Given the description of an element on the screen output the (x, y) to click on. 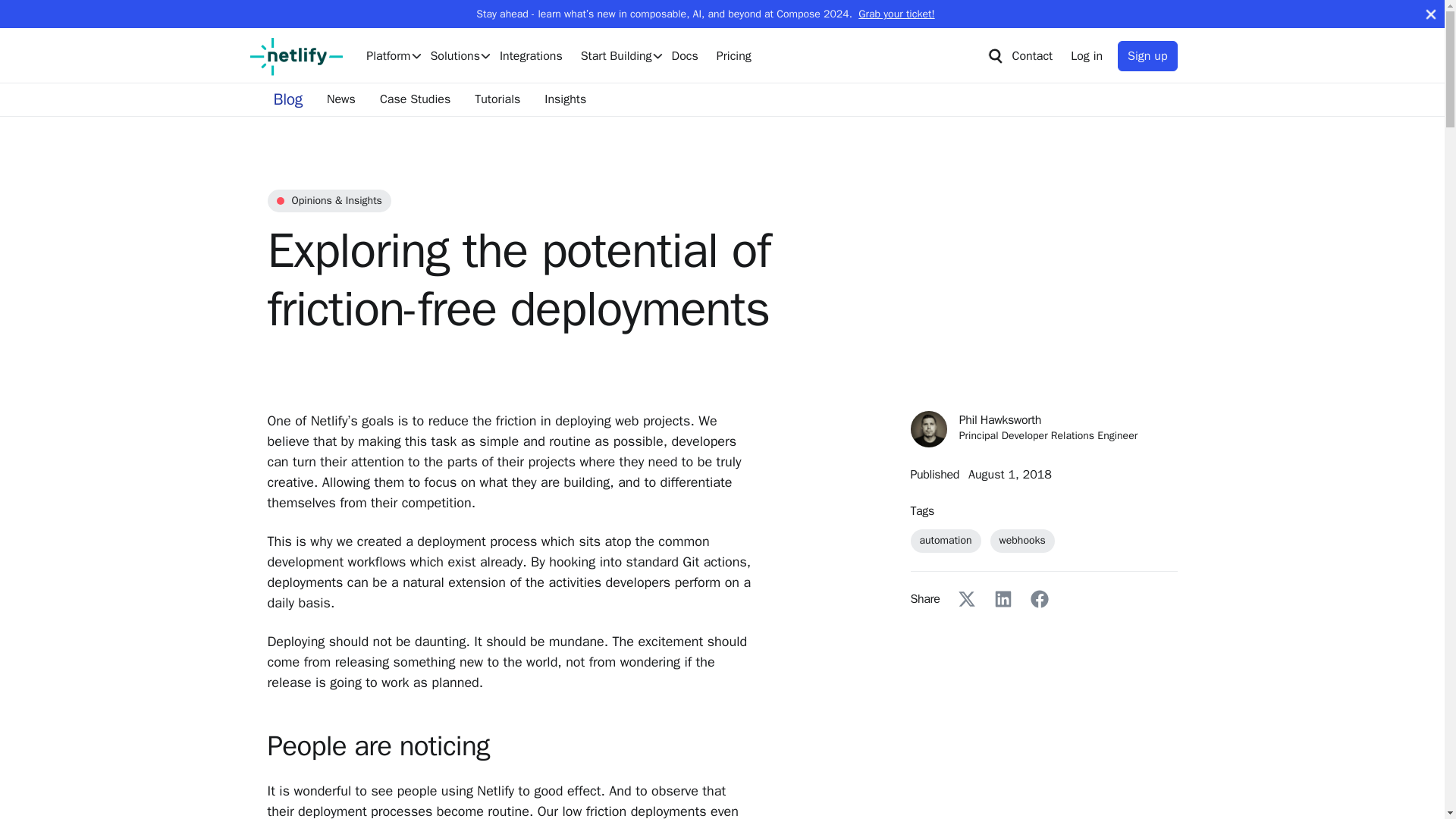
Close announcement bar (1430, 13)
Go to homepage (296, 56)
Grab your ticket! (895, 13)
Integrations (531, 55)
